Given the description of an element on the screen output the (x, y) to click on. 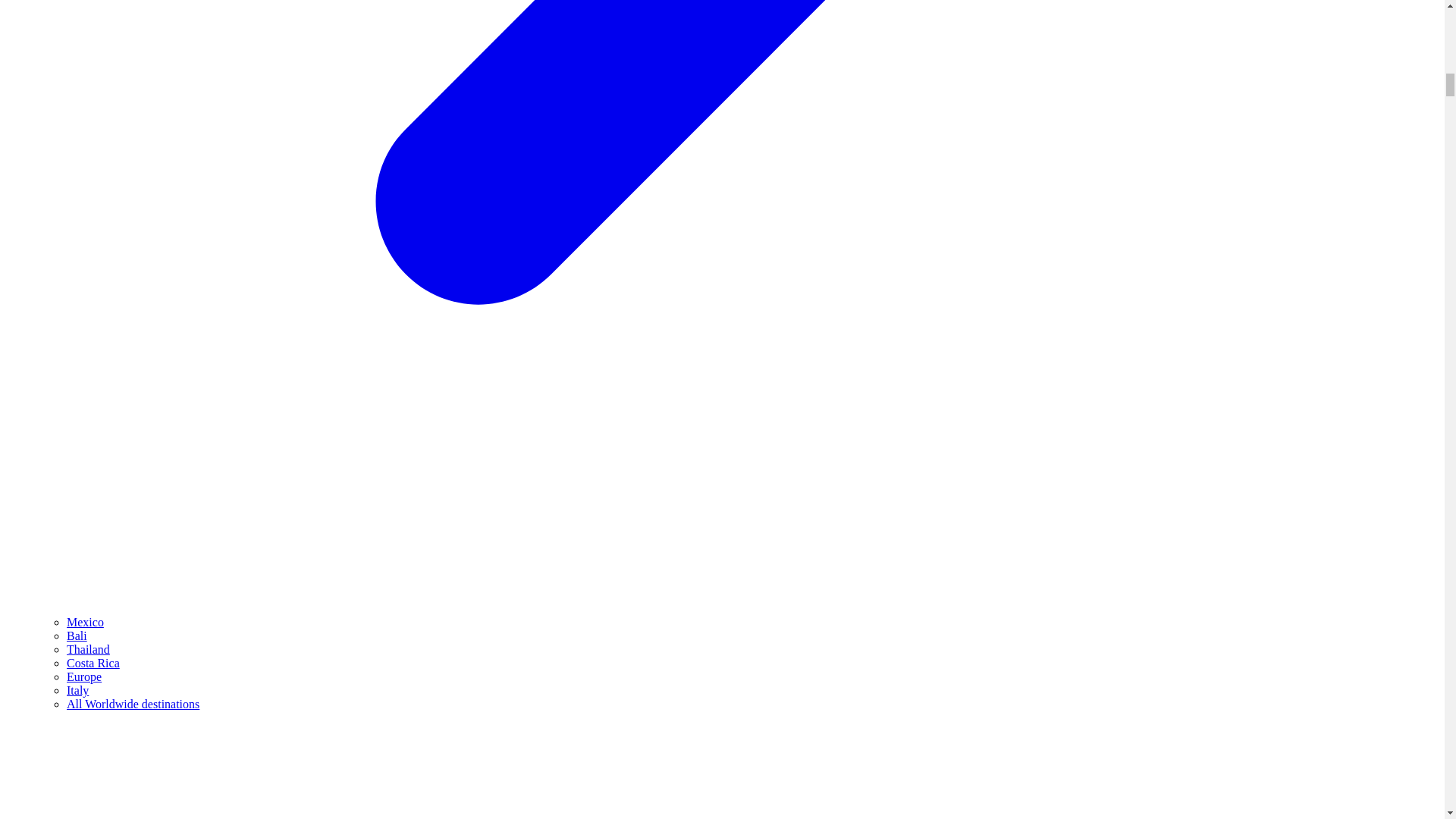
Italy (77, 689)
Bali (76, 635)
Mexico (84, 621)
Thailand (88, 649)
Europe (83, 676)
Costa Rica (92, 662)
